Given the description of an element on the screen output the (x, y) to click on. 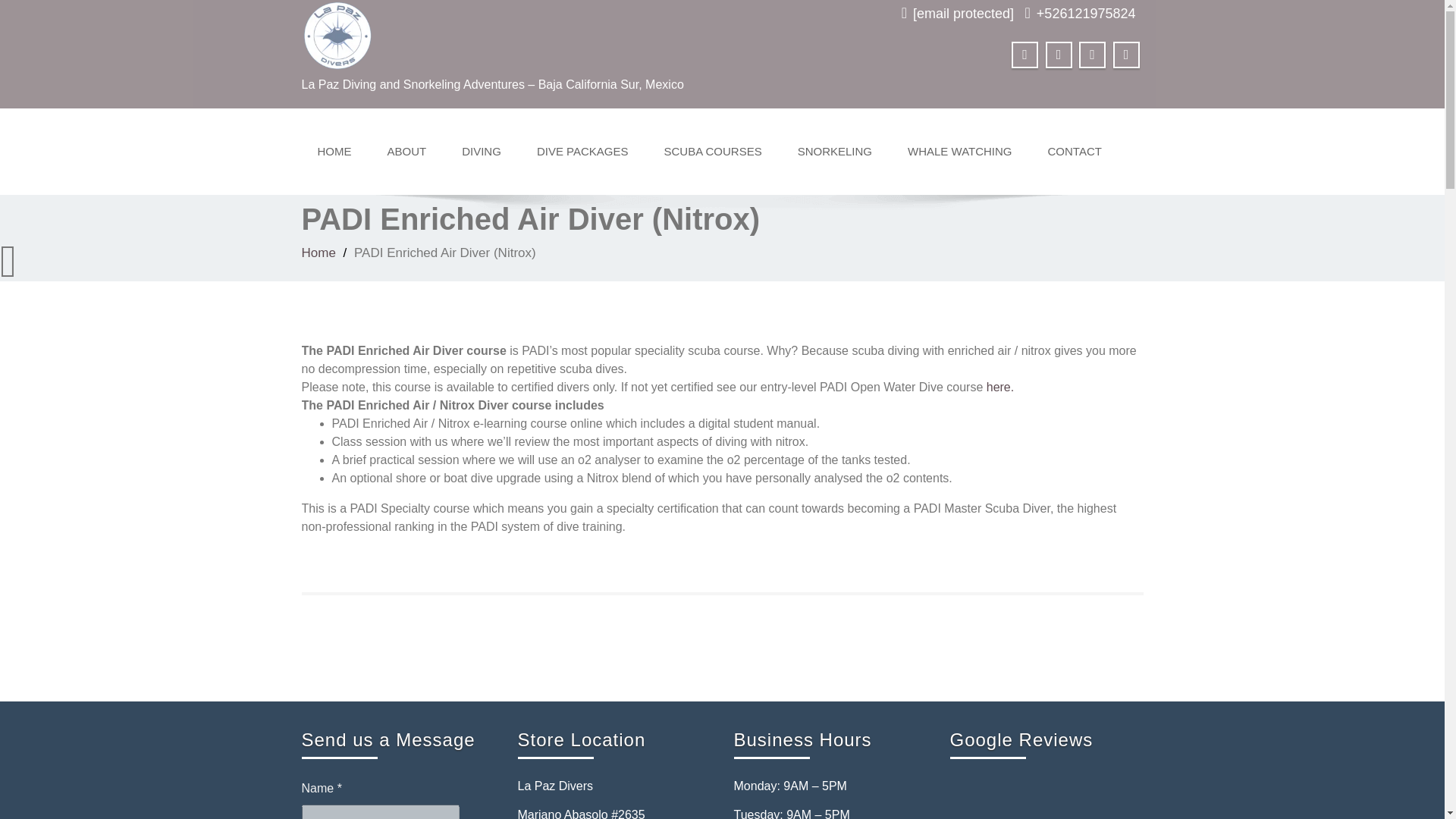
Home (318, 252)
instagram (1126, 54)
Twitter (1058, 54)
SCUBA COURSES (711, 151)
Youtube (1091, 54)
WHALE WATCHING (959, 151)
DIVE PACKAGES (582, 151)
Facebook (1024, 54)
here. (1000, 386)
La Paz Divers (336, 32)
